Given the description of an element on the screen output the (x, y) to click on. 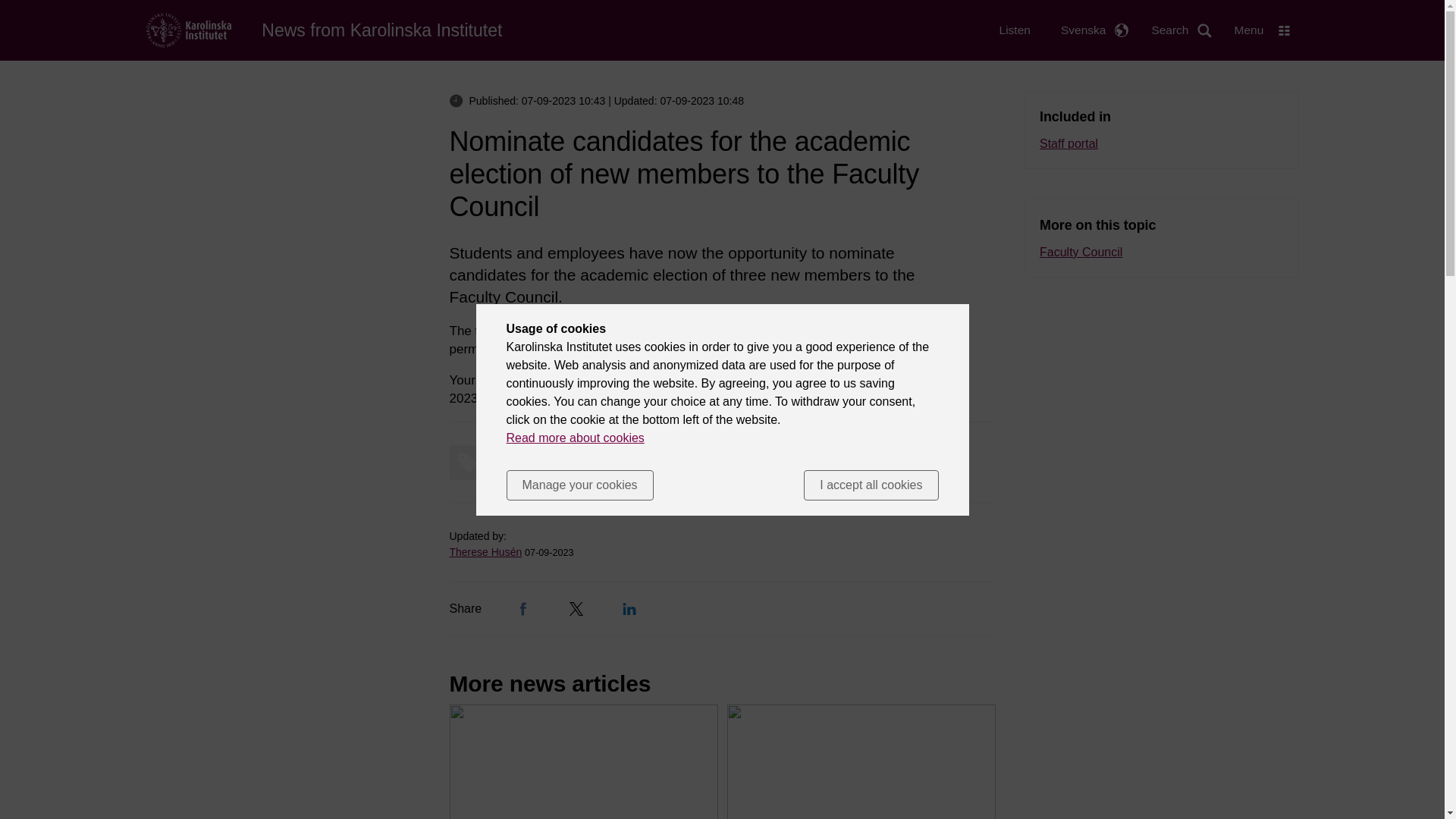
Management (510, 462)
LinkedIn (629, 608)
News from Karolinska Institutet (382, 30)
Twitter (576, 608)
Facebook (523, 608)
Staff portal (1160, 144)
Home (382, 30)
Faculty Council (1160, 252)
Listen (1014, 30)
